Given the description of an element on the screen output the (x, y) to click on. 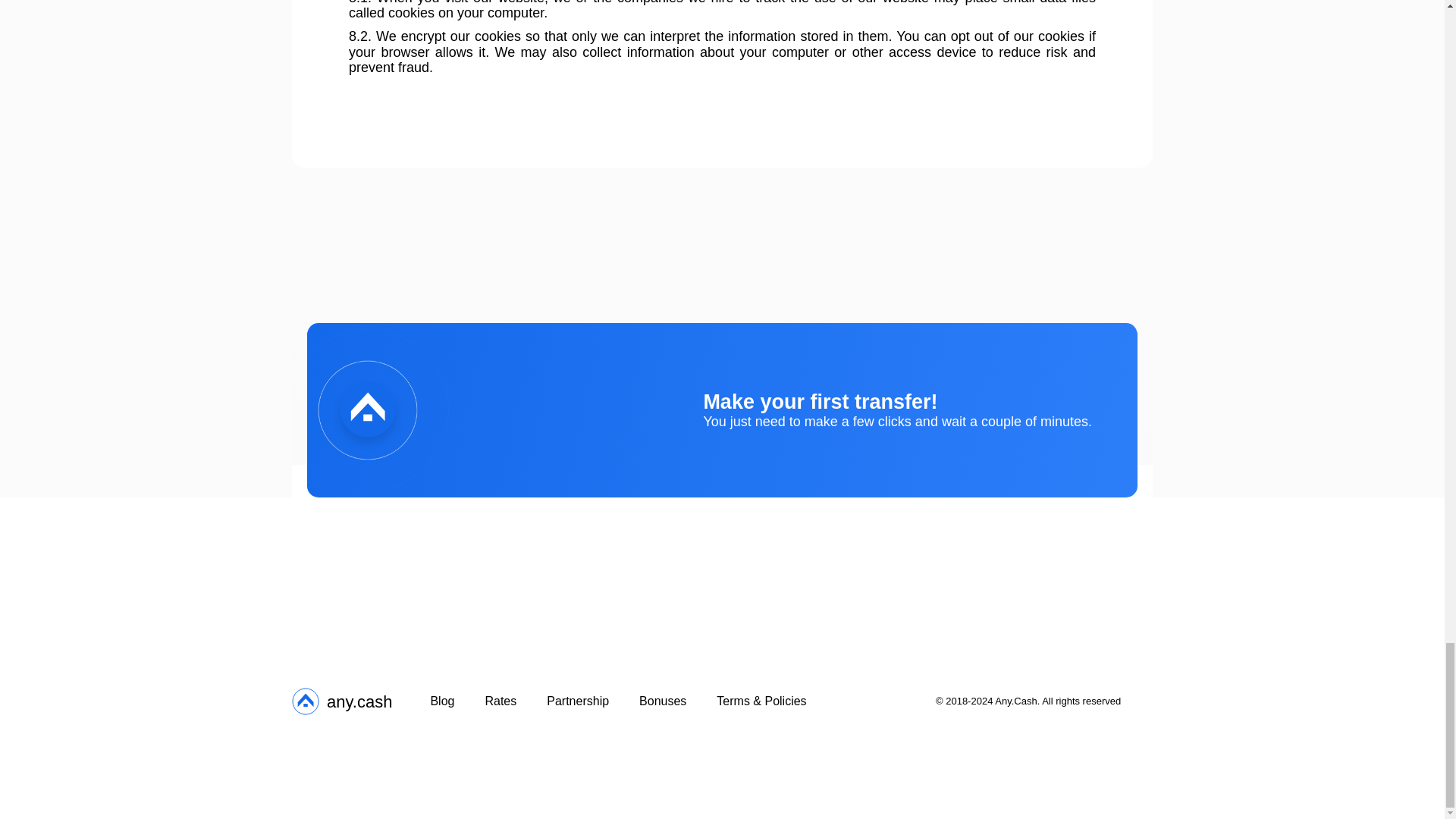
Blog (441, 701)
Partnership (577, 701)
Rates (341, 700)
Bonuses (500, 701)
